Given the description of an element on the screen output the (x, y) to click on. 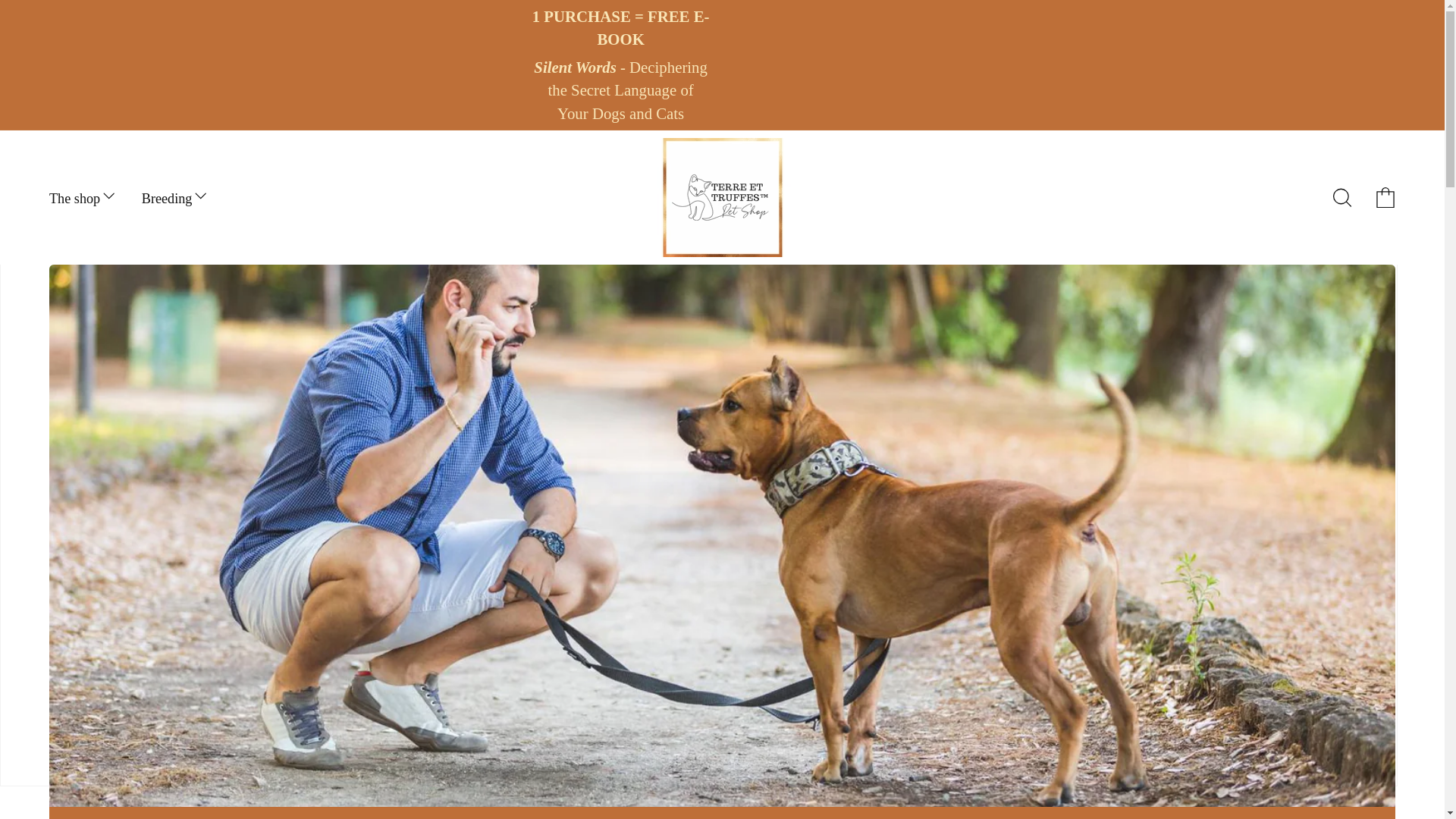
Skip to content (59, 22)
Cart (1384, 197)
